Given the description of an element on the screen output the (x, y) to click on. 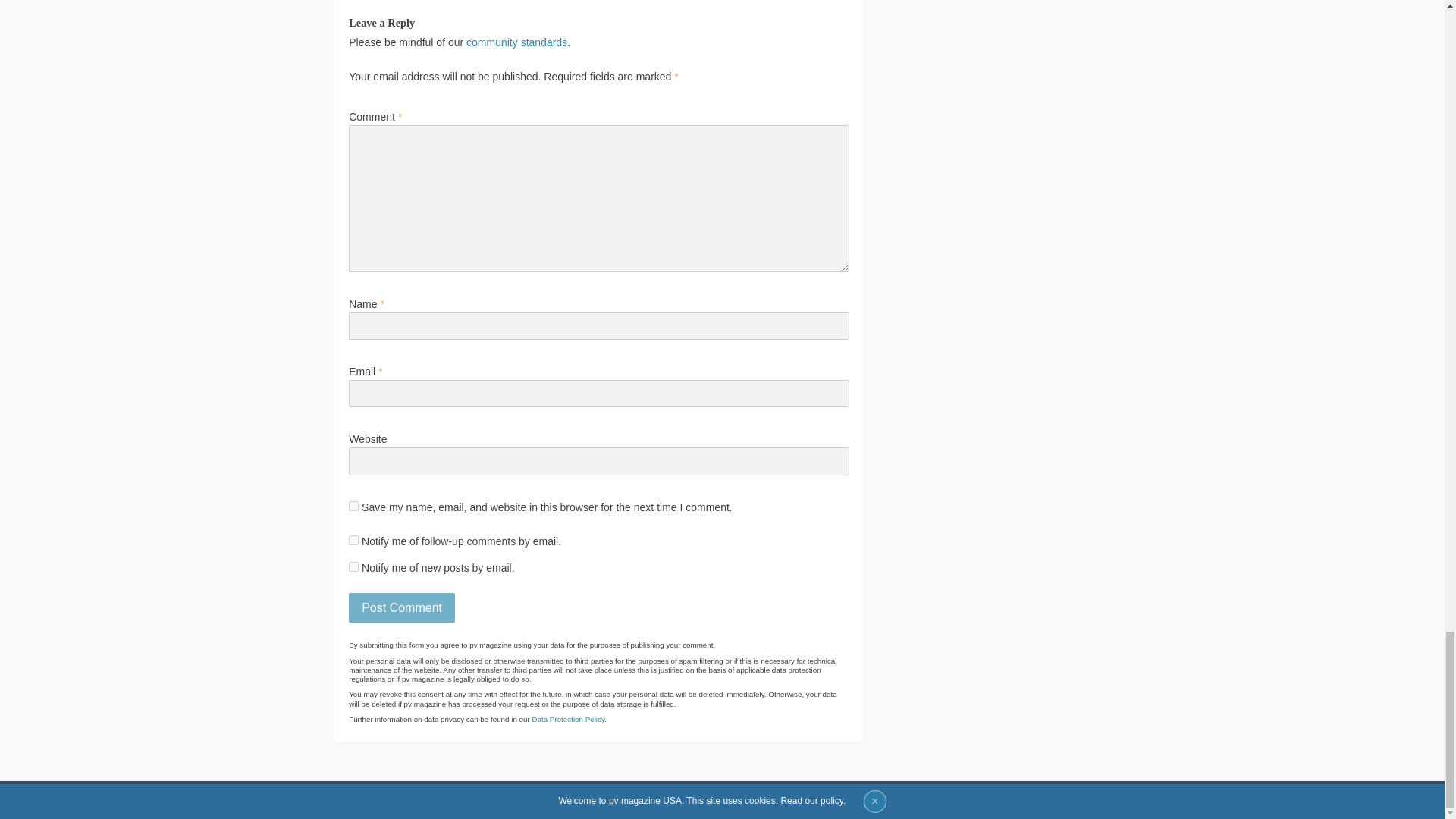
Post Comment (401, 607)
subscribe (353, 540)
yes (353, 506)
subscribe (353, 566)
